Given the description of an element on the screen output the (x, y) to click on. 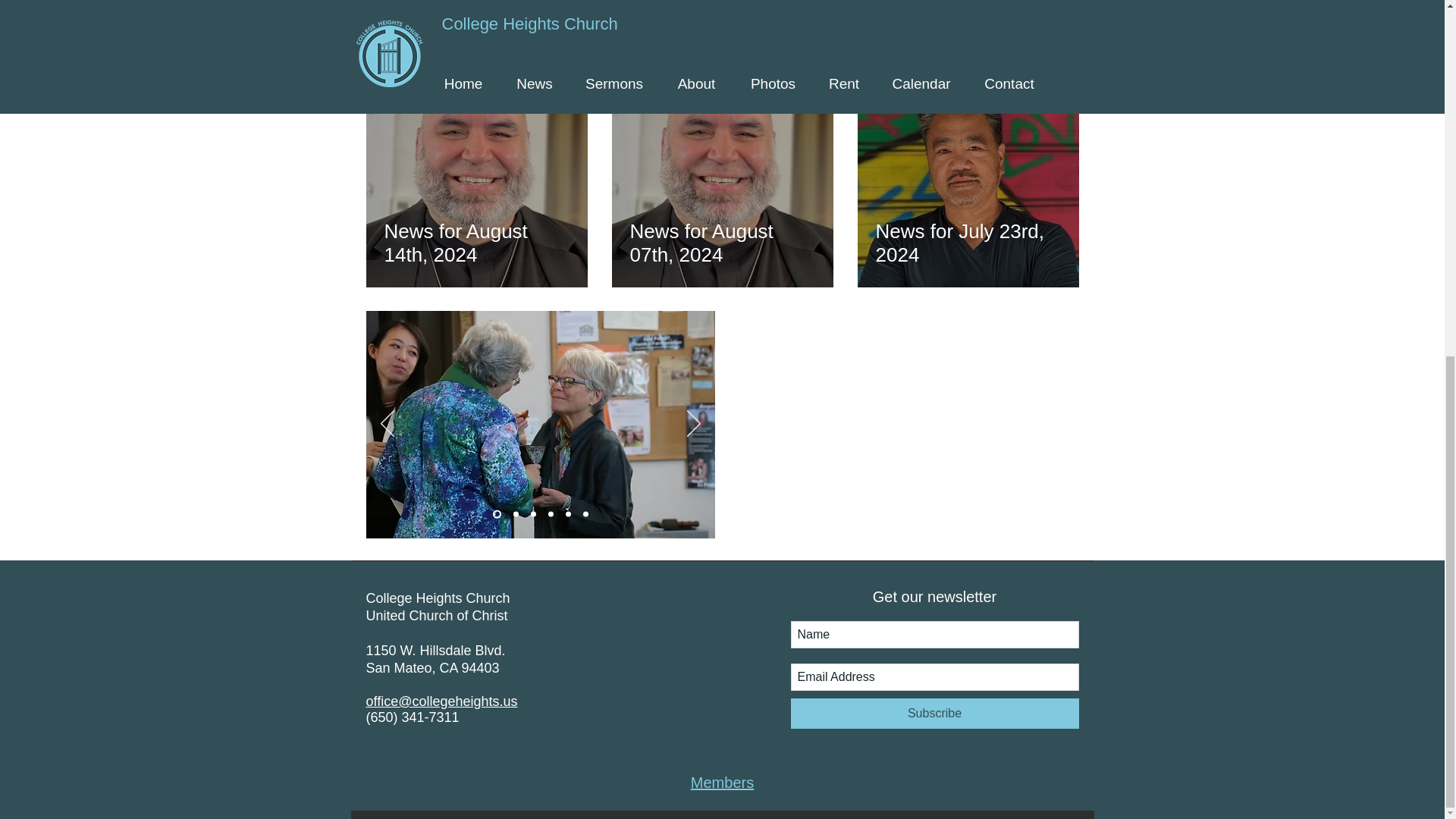
News for July 23rd, 2024 (967, 242)
News for August 14th, 2024 (476, 242)
News for August 07th, 2024 (720, 242)
Subscribe (934, 713)
Google Maps (908, 424)
Members (722, 782)
